Given the description of an element on the screen output the (x, y) to click on. 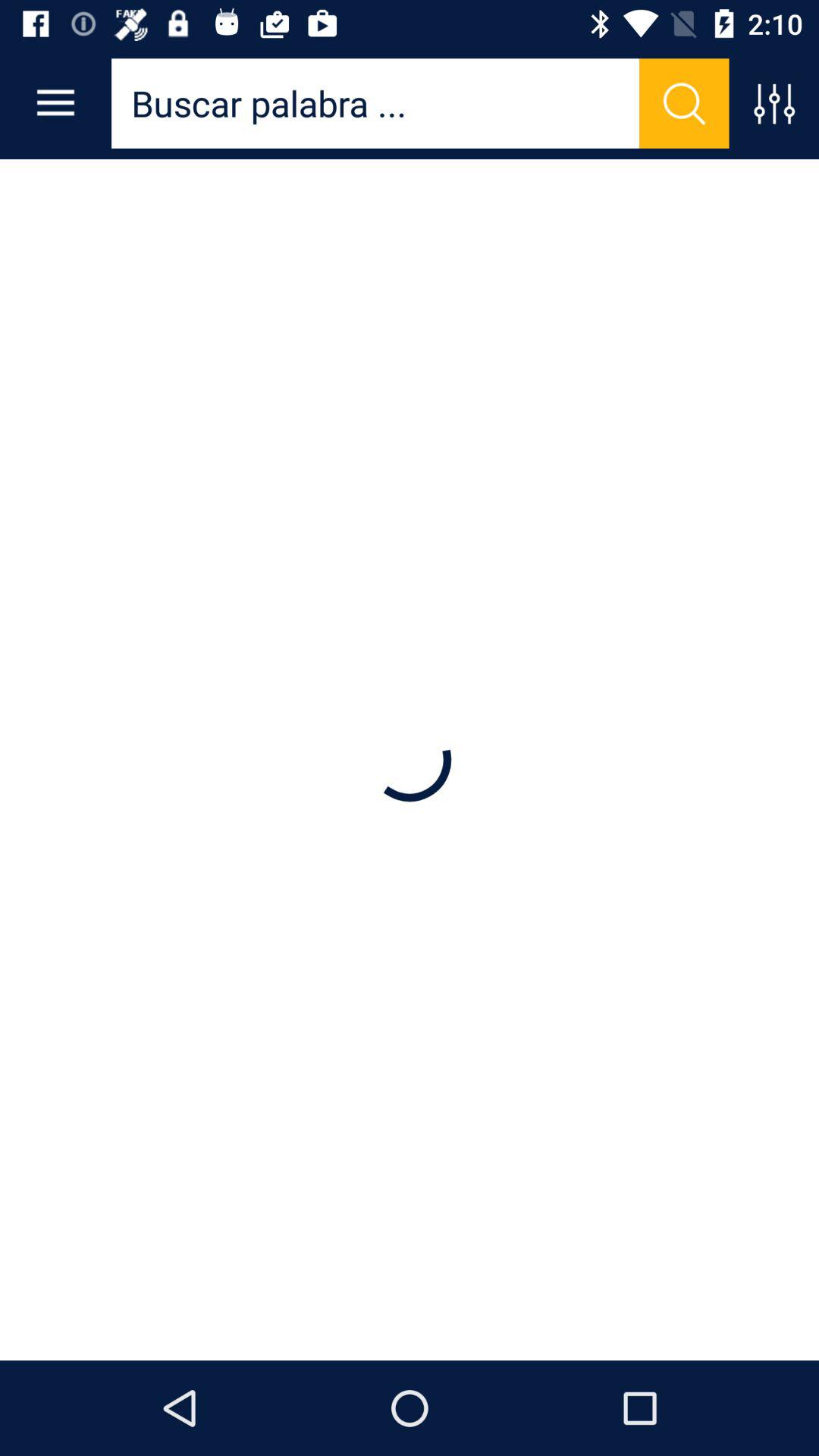
type what you want to search (375, 103)
